Given the description of an element on the screen output the (x, y) to click on. 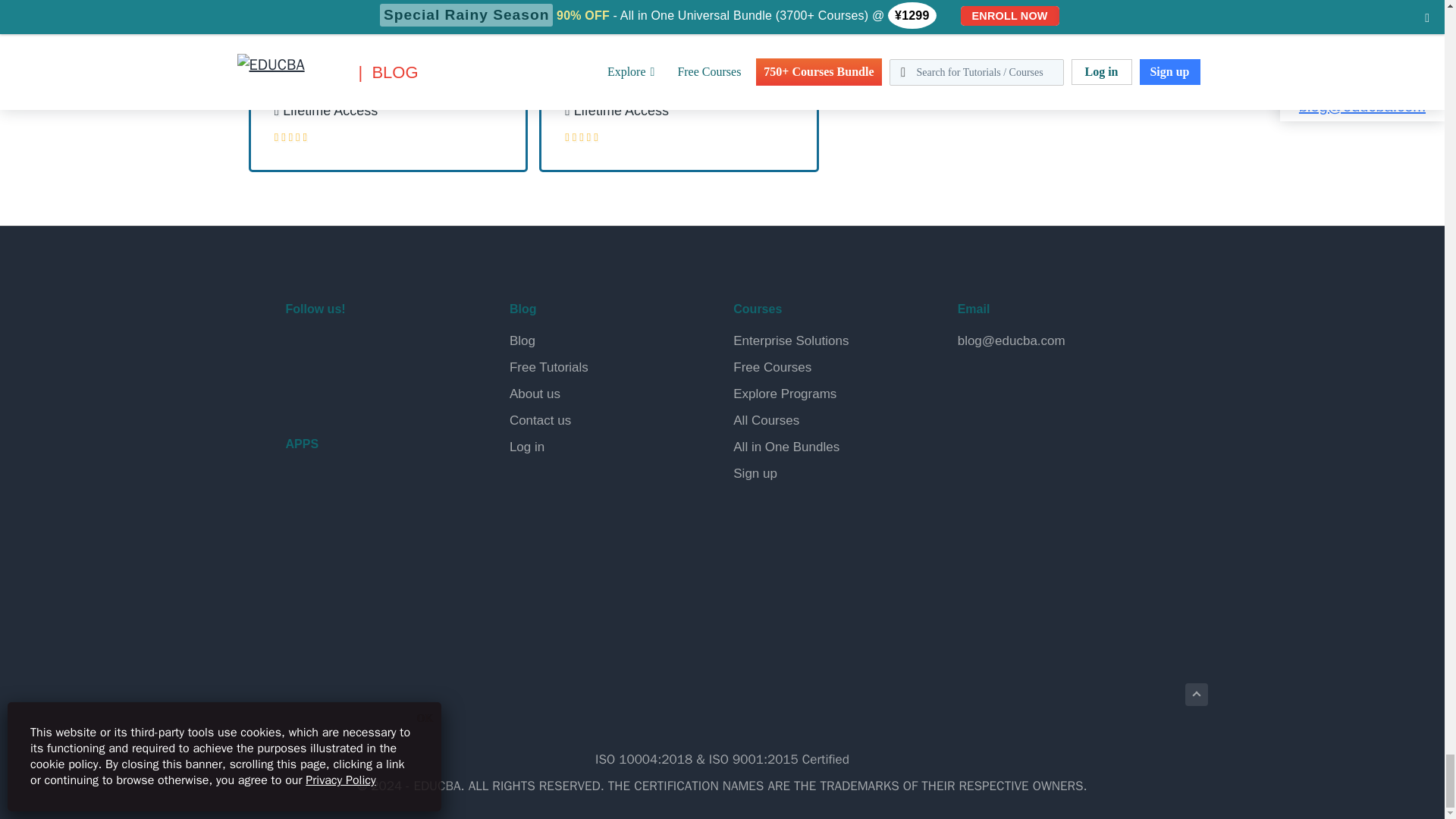
EDUCBA Instagram (408, 349)
EDUCBA LinkedIN (371, 349)
EDUCBA Android App (360, 498)
EDUCBA Facebook (300, 349)
EDUCBA Twitter (336, 349)
EDUCBA Udemy (371, 387)
EDUCBA Coursera (336, 387)
EDUCBA iOS App (360, 562)
EDUCBA Youtube (300, 387)
